Given the description of an element on the screen output the (x, y) to click on. 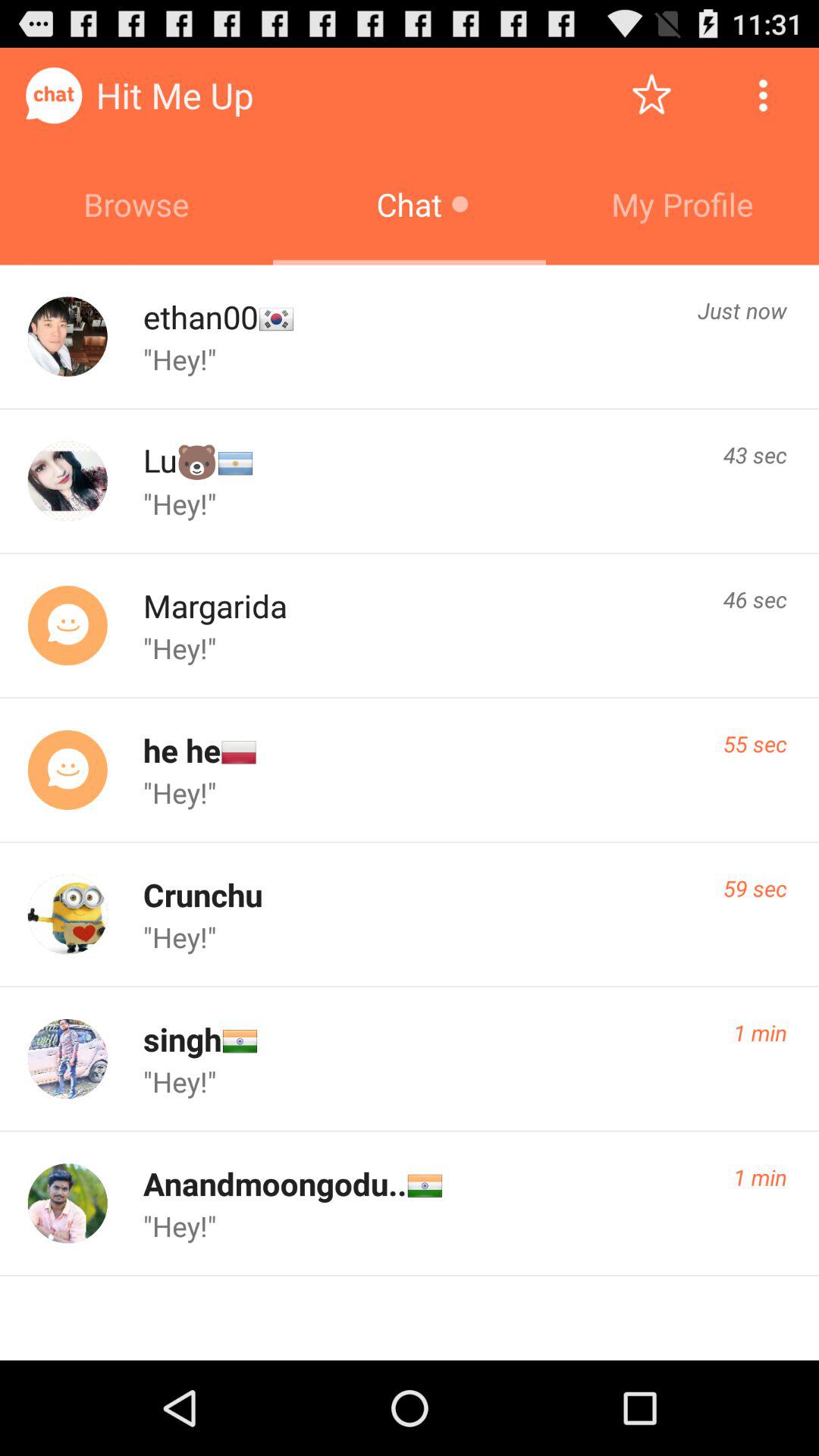
click the my profile icon (682, 204)
